Given the description of an element on the screen output the (x, y) to click on. 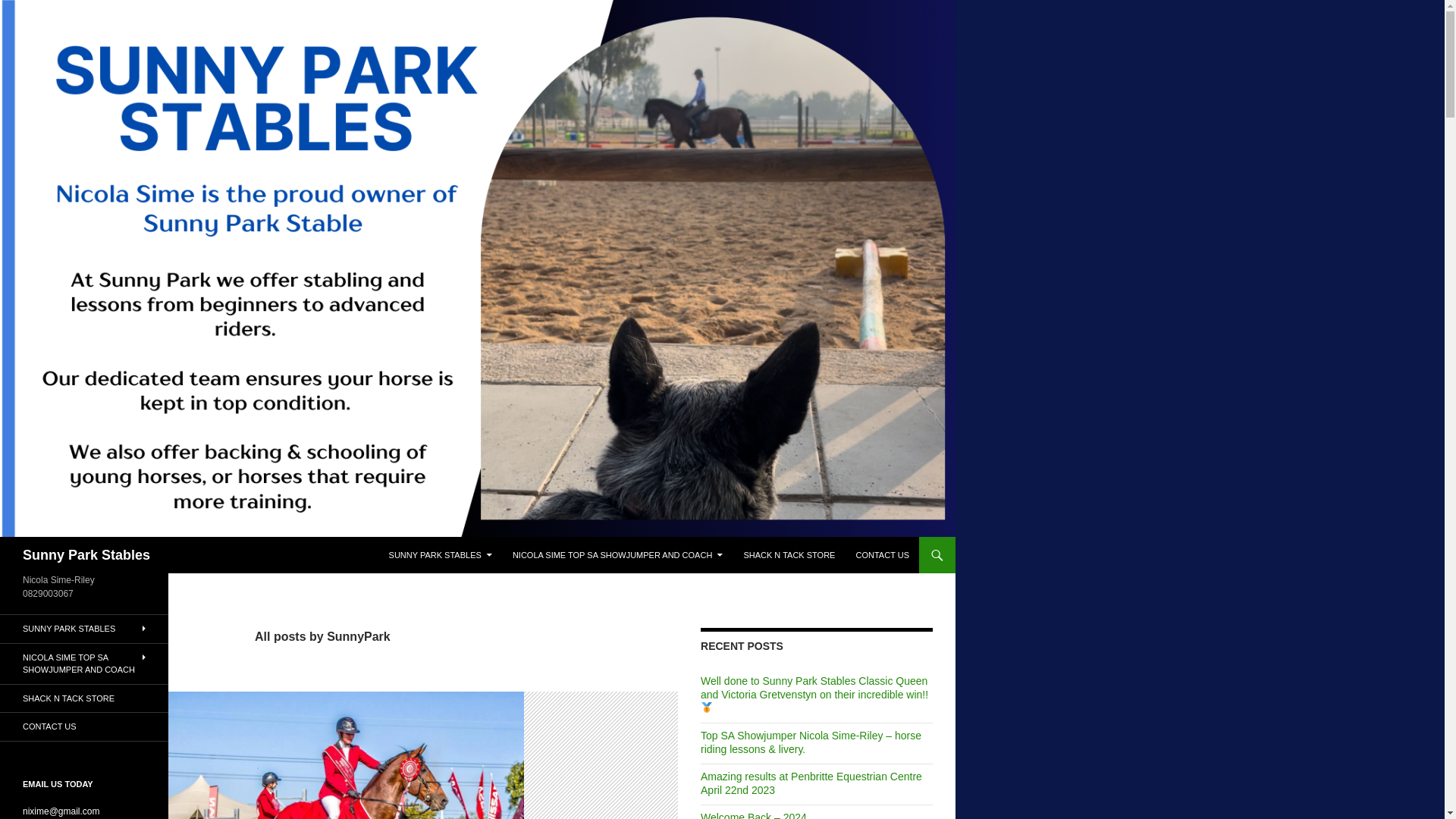
SHACK N TACK STORE (788, 555)
SUNNY PARK STABLES (440, 555)
CONTACT US (881, 555)
NICOLA SIME TOP SA SHOWJUMPER AND COACH (617, 555)
Sunny Park Stables (86, 555)
